Given the description of an element on the screen output the (x, y) to click on. 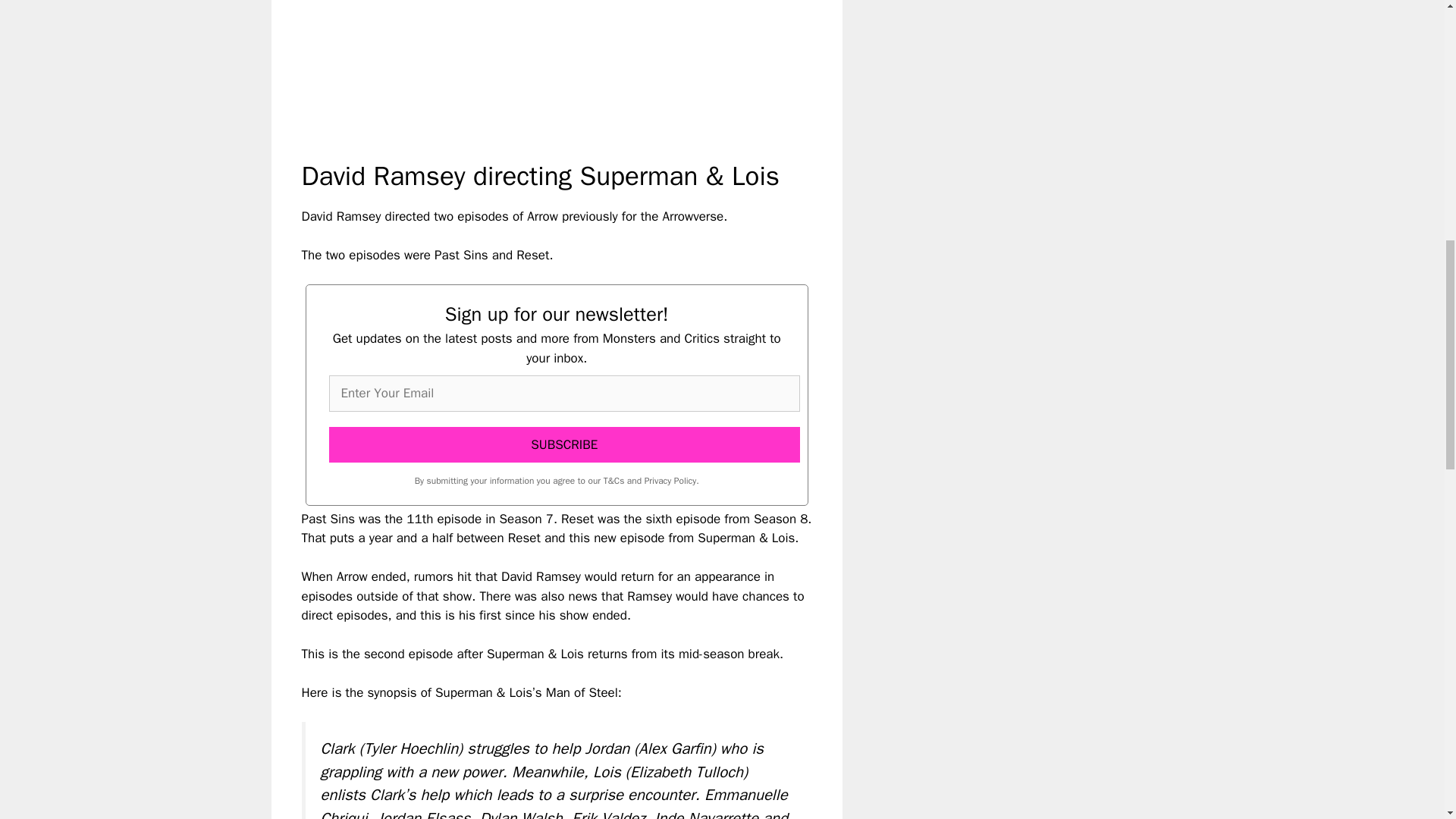
SUBSCRIBE (564, 444)
YouTube video player (513, 67)
SUBSCRIBE (564, 444)
